Given the description of an element on the screen output the (x, y) to click on. 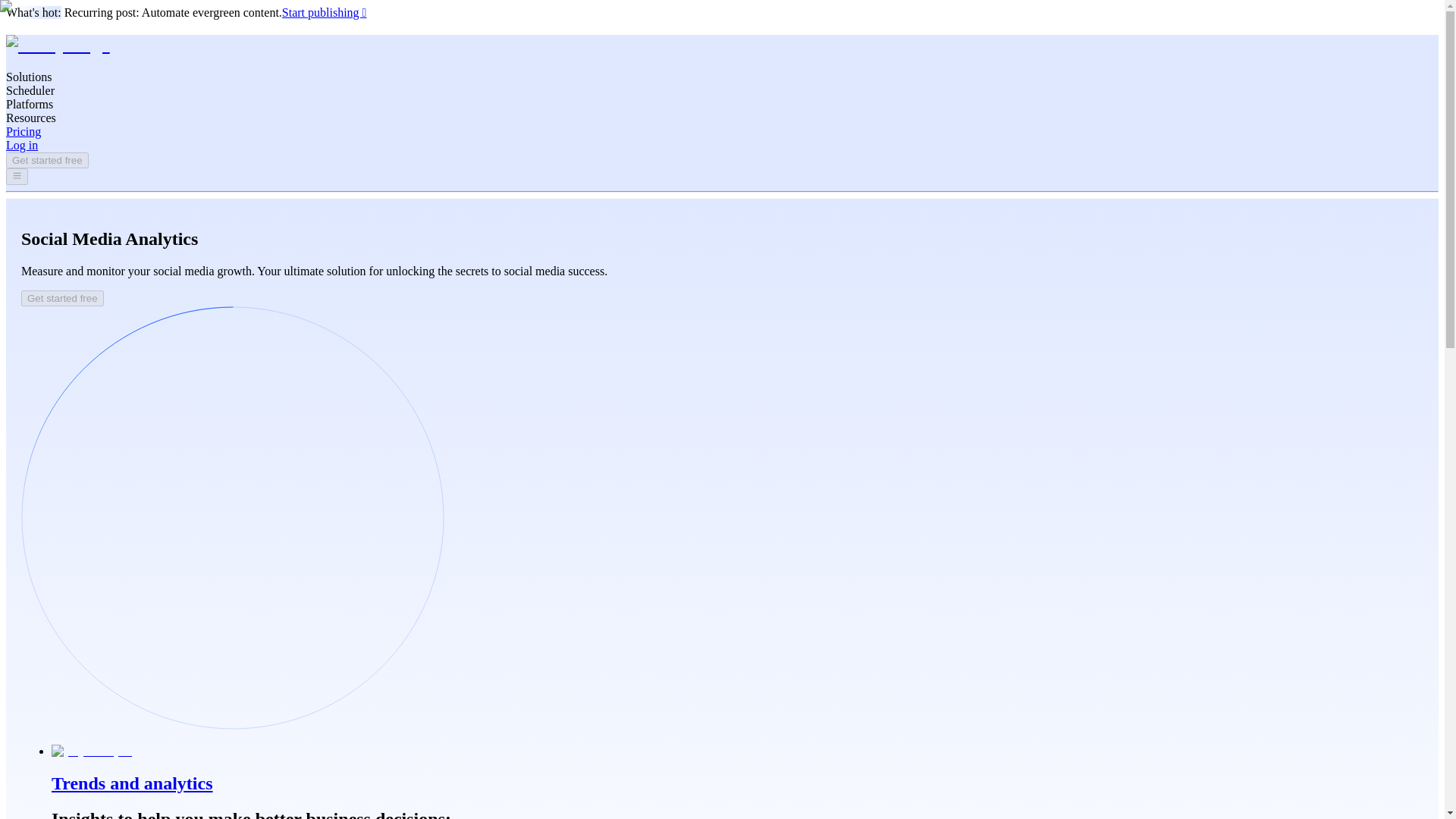
Get started free (62, 297)
Pricing (22, 131)
Get started free (46, 159)
Log in (21, 144)
Trends and analytics (736, 768)
Get started free (62, 298)
Get started free (46, 160)
